Given the description of an element on the screen output the (x, y) to click on. 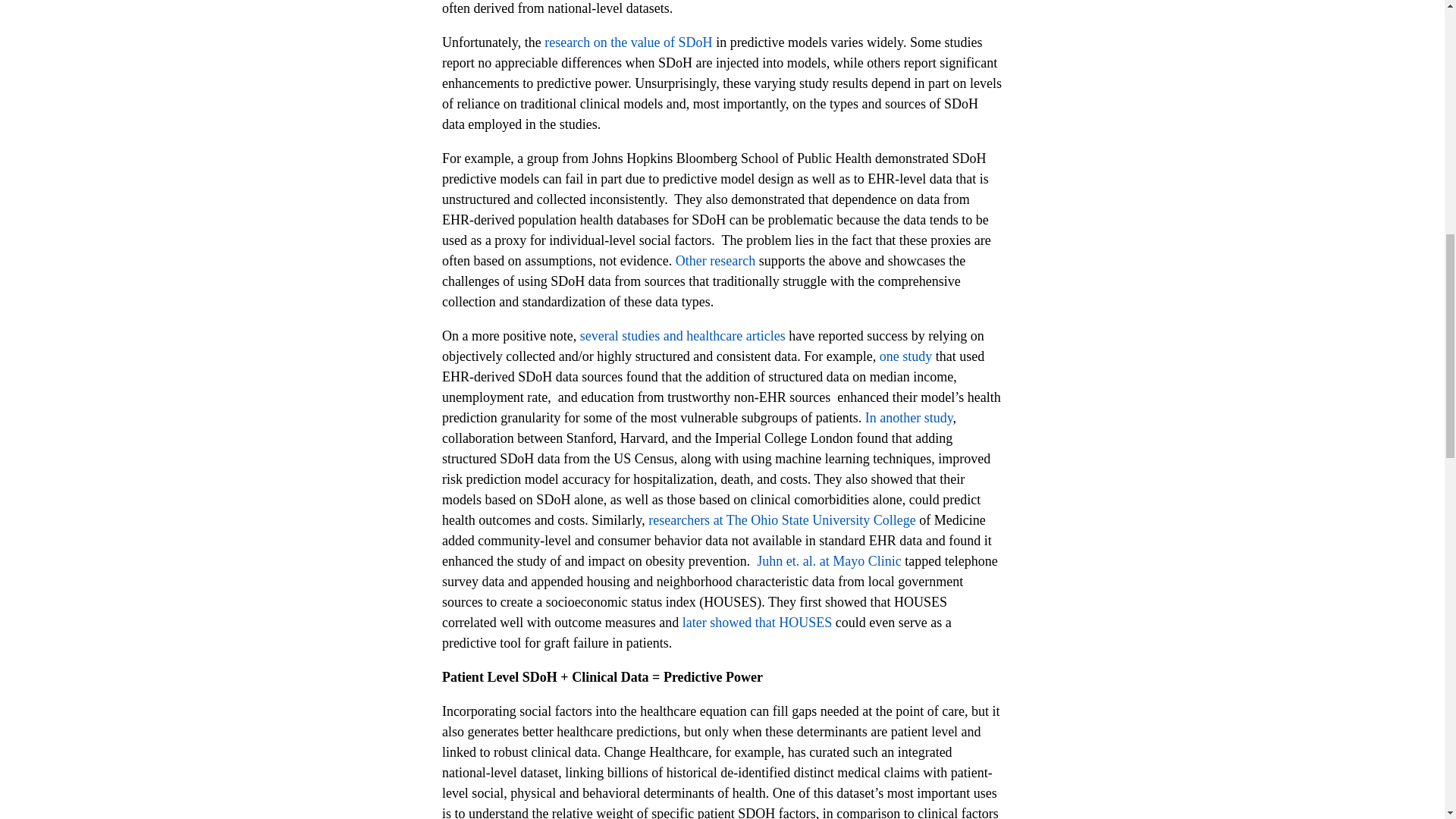
later showed that HOUSES (756, 622)
research on the value of SDoH (627, 42)
one study (906, 355)
researchers at The Ohio State University College (781, 519)
Juhn et. al. at Mayo Clinic (829, 560)
and (672, 335)
healthcare articles (734, 335)
Other research (715, 260)
several studies (619, 335)
In another study (908, 417)
